Given the description of an element on the screen output the (x, y) to click on. 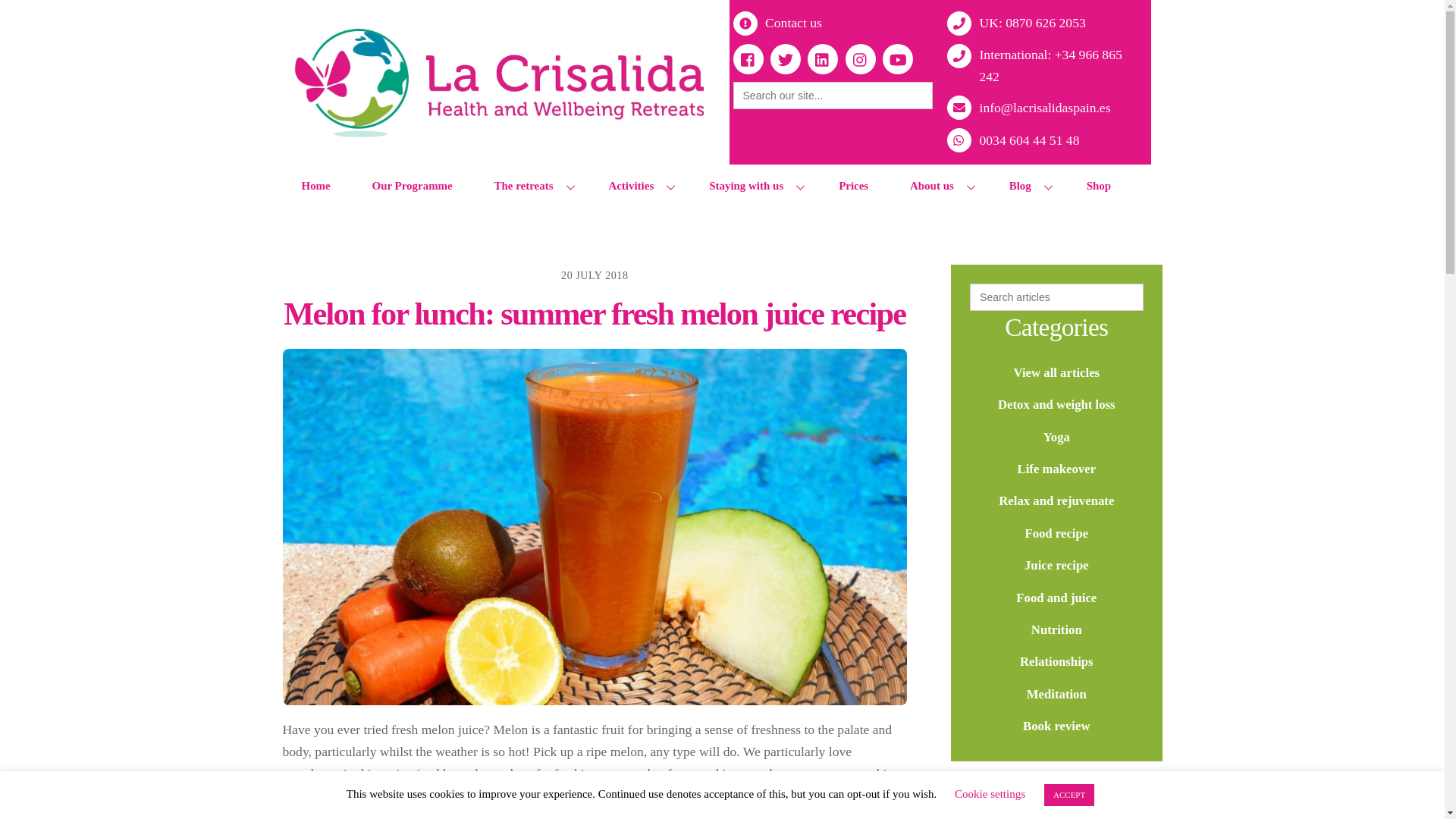
UK: 0870 626 2053 (1020, 23)
Our Programme (411, 186)
The retreats (530, 186)
Contact us (781, 23)
Staying with us (751, 186)
Home (316, 186)
0034 604 44 51 48 (1017, 139)
Activities (636, 186)
